Given the description of an element on the screen output the (x, y) to click on. 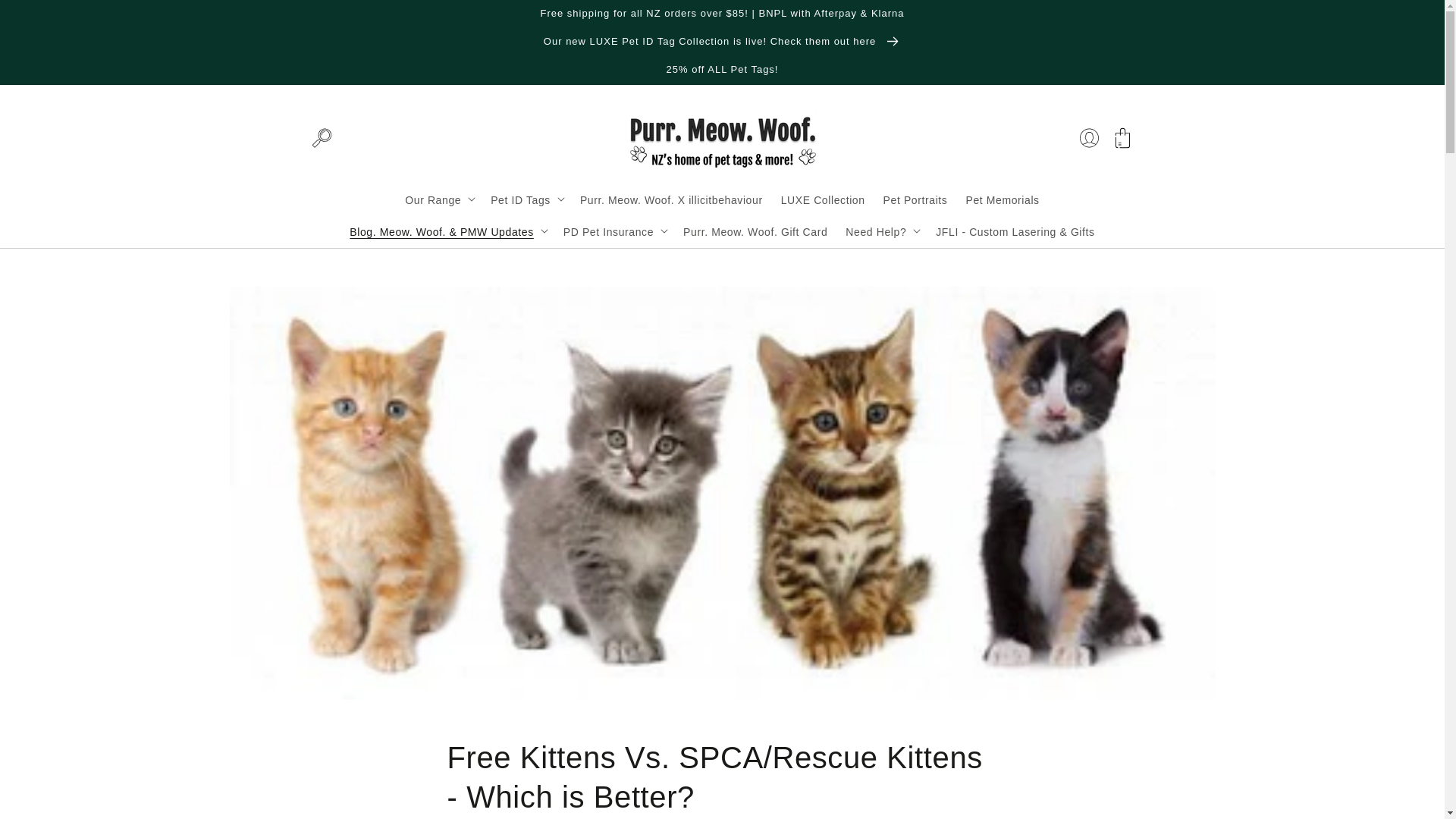
Skip to content (45, 16)
